Given the description of an element on the screen output the (x, y) to click on. 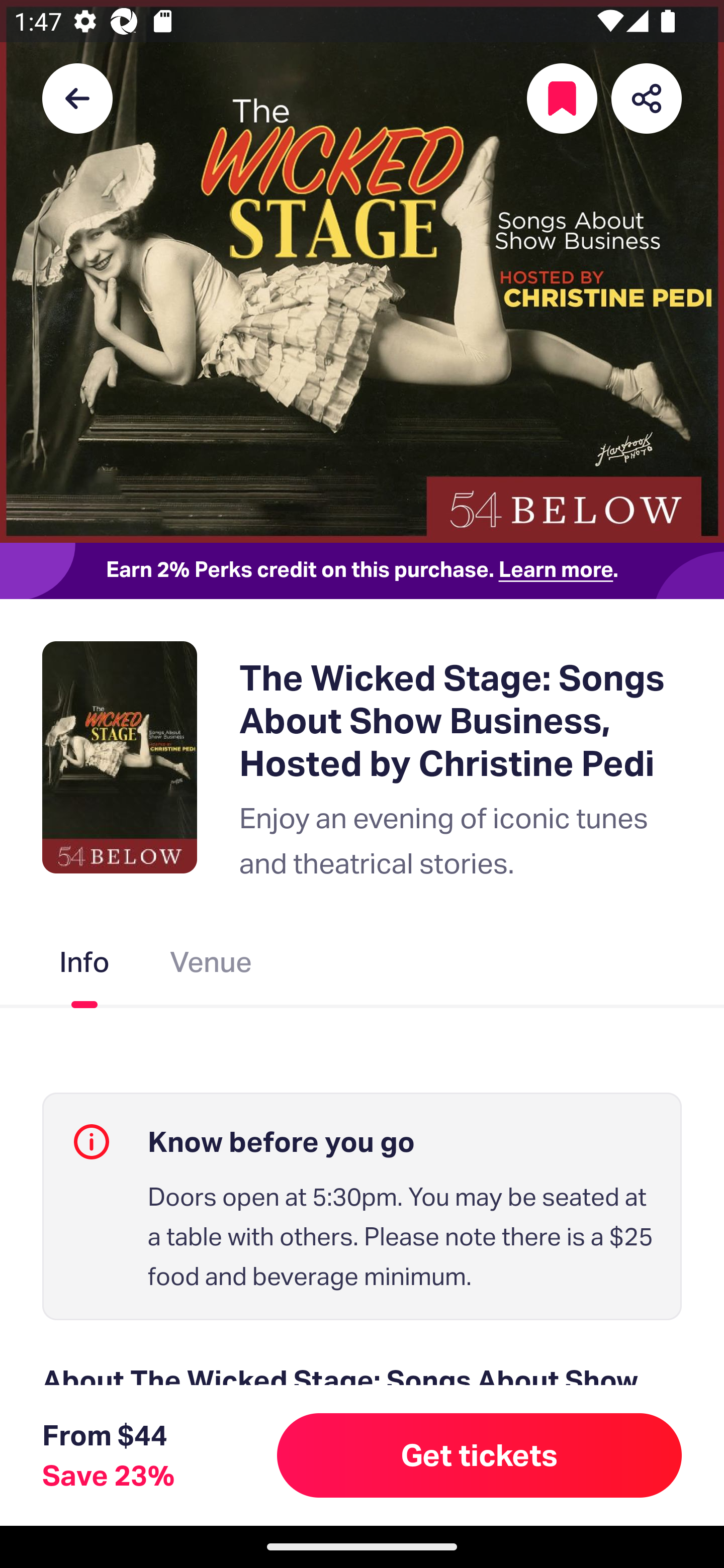
Earn 2% Perks credit on this purchase. Learn more. (362, 570)
Venue (210, 965)
Get tickets (479, 1454)
